Given the description of an element on the screen output the (x, y) to click on. 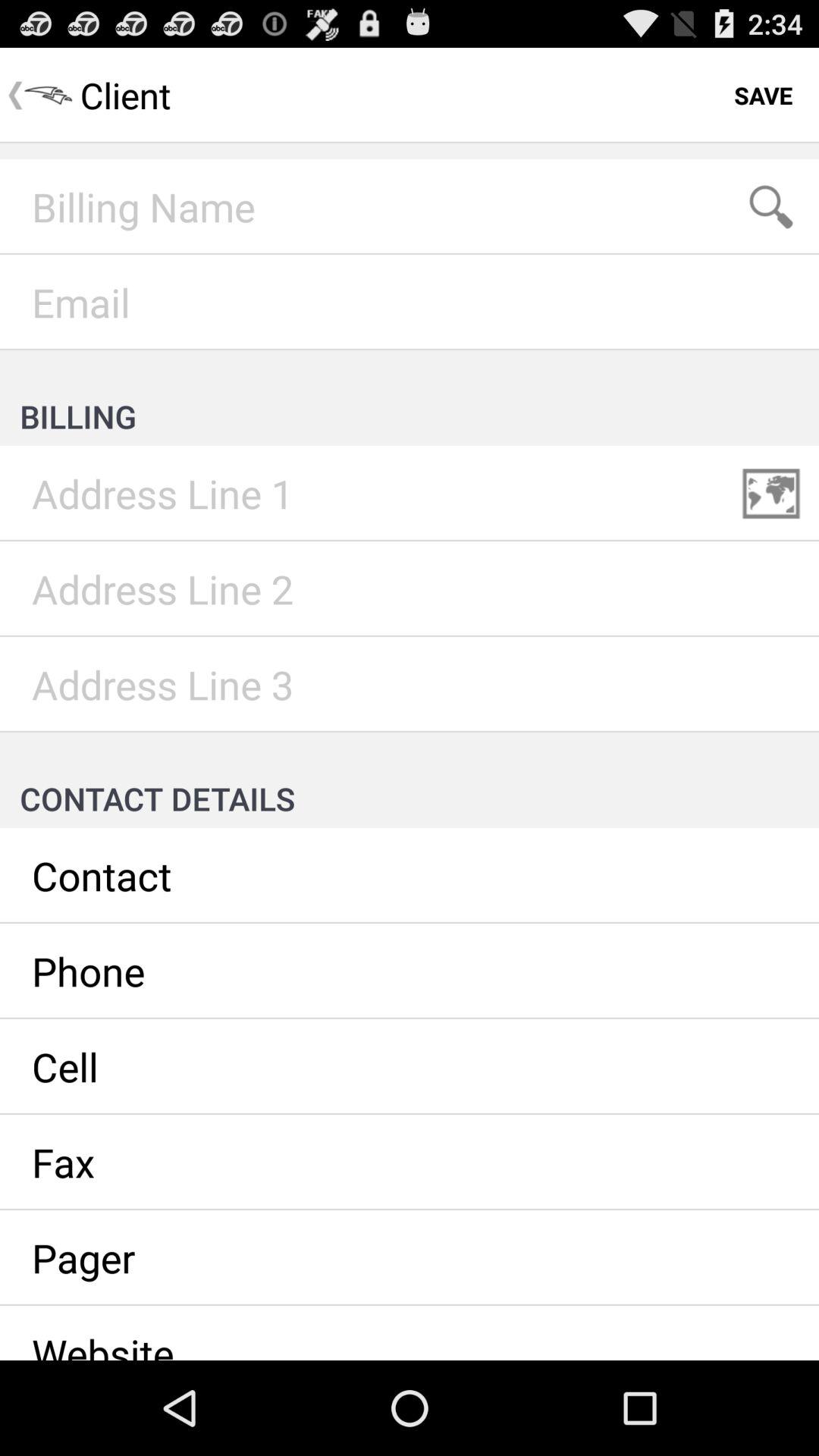
search term (771, 206)
